Given the description of an element on the screen output the (x, y) to click on. 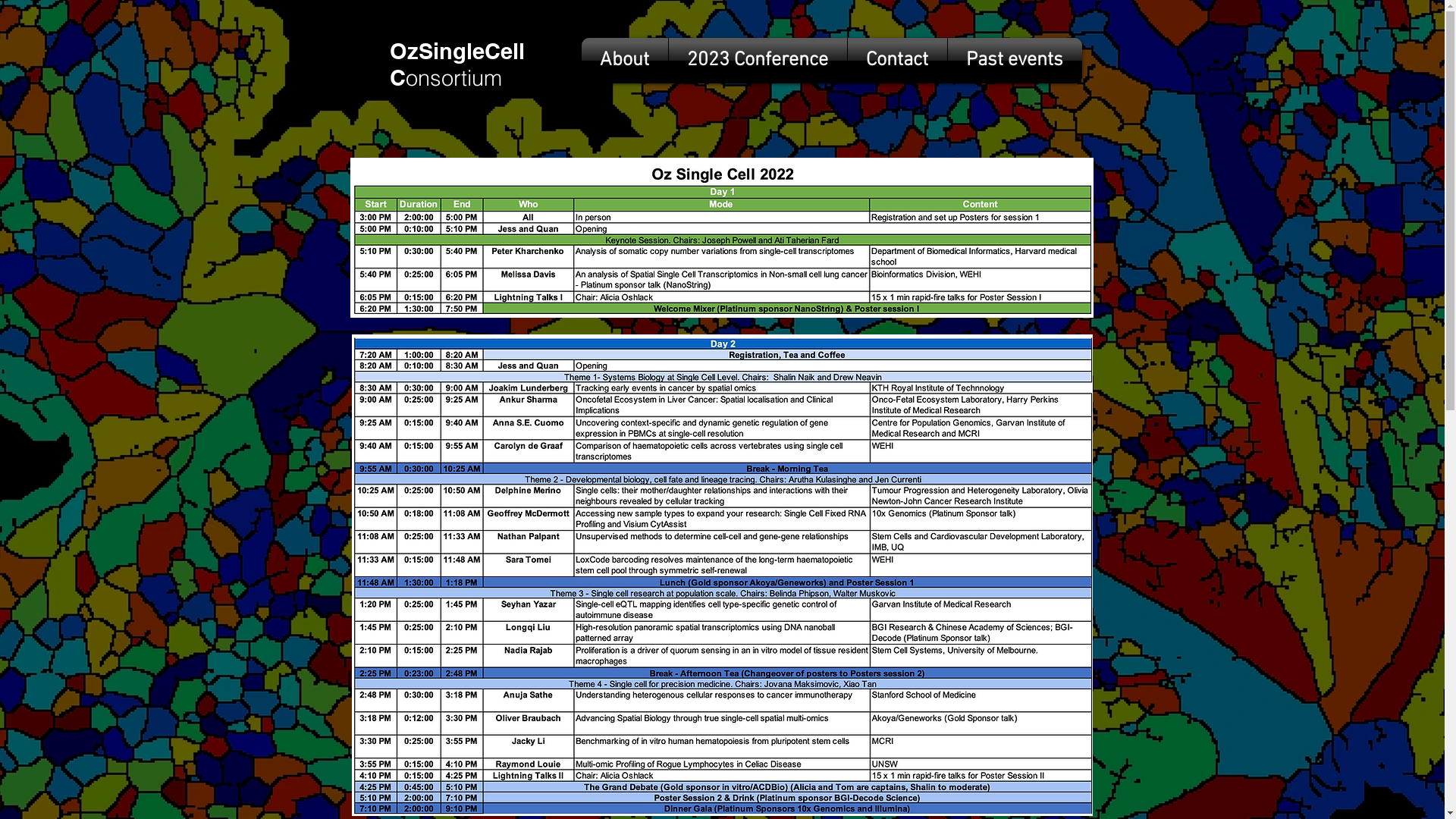
About Element type: text (623, 60)
Contact Element type: text (897, 60)
2023 Conference Element type: text (757, 60)
Past events Element type: text (1014, 60)
